Given the description of an element on the screen output the (x, y) to click on. 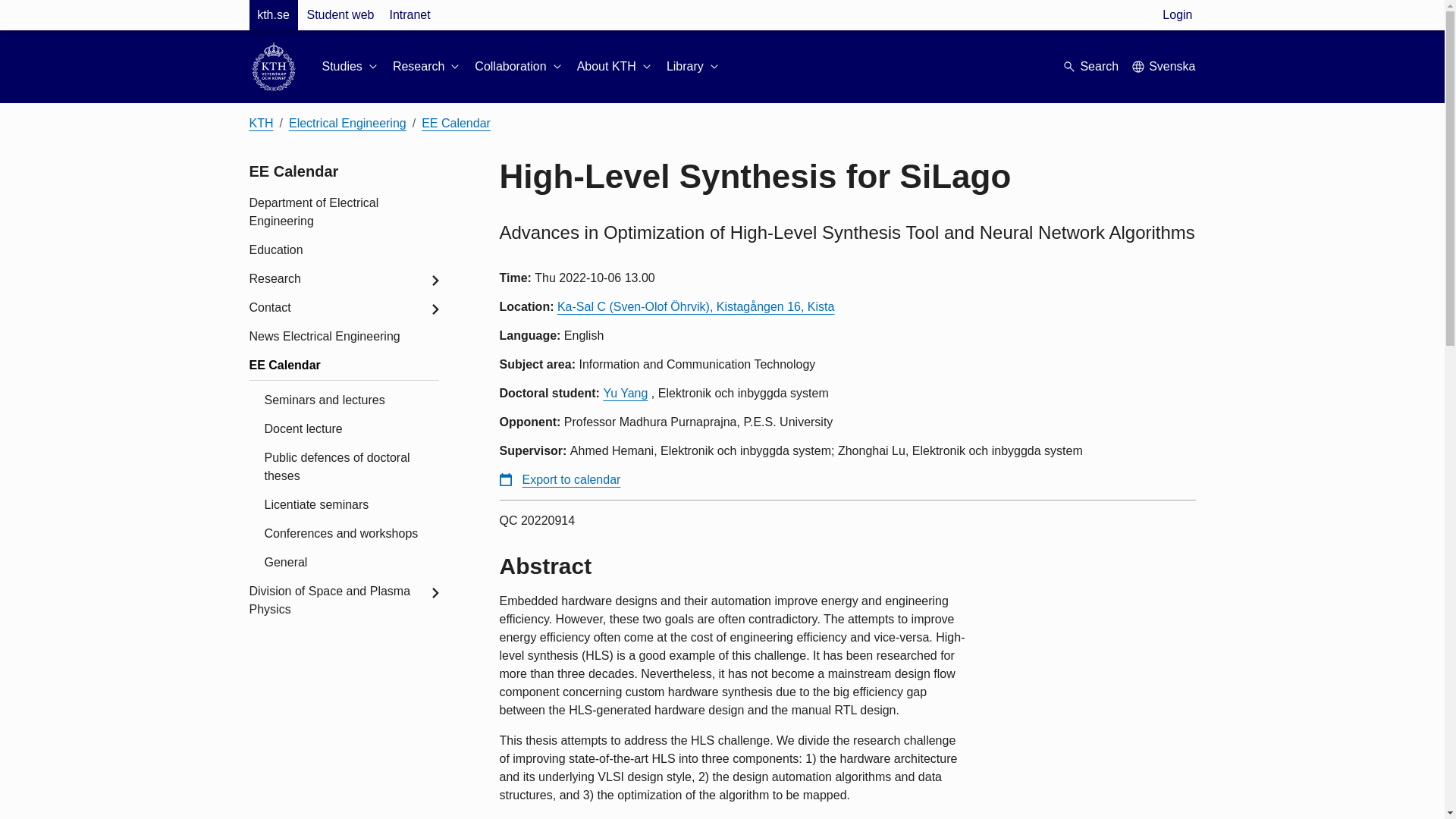
Studies (350, 66)
Collaboration (519, 66)
Research (428, 66)
Intranet (408, 15)
Student web (339, 15)
About KTH (614, 66)
Login (1176, 15)
kth.se (272, 15)
Library (694, 66)
